Given the description of an element on the screen output the (x, y) to click on. 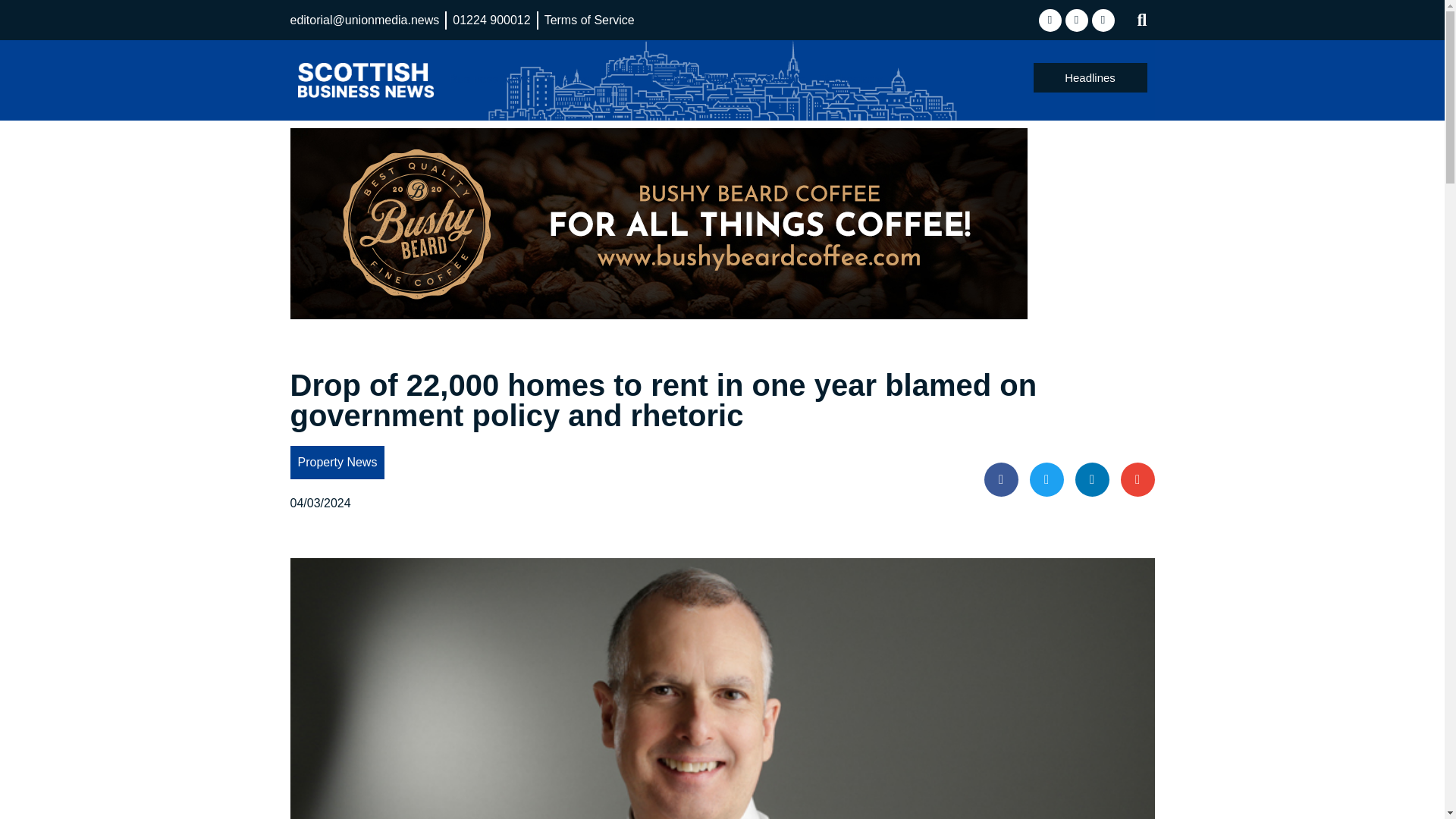
Terms of Service (589, 19)
Business News (489, 78)
Finance (569, 78)
01224 900012 (490, 19)
Legal (620, 78)
